Given the description of an element on the screen output the (x, y) to click on. 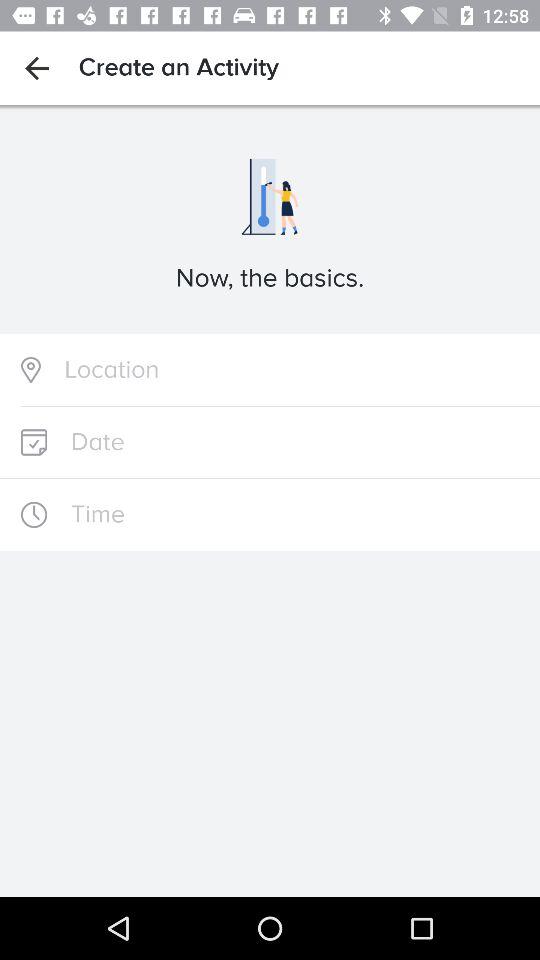
set time (270, 514)
